Given the description of an element on the screen output the (x, y) to click on. 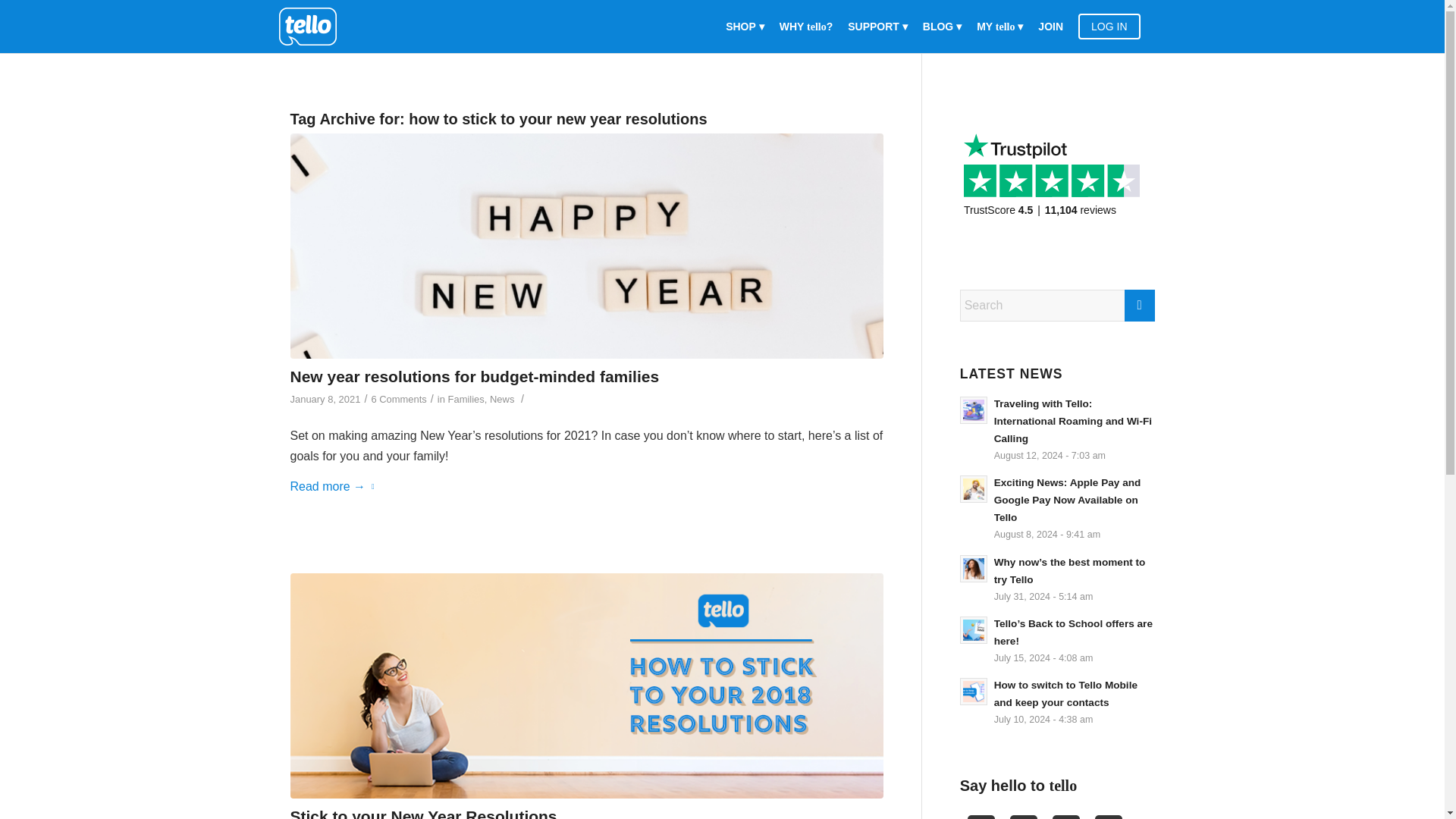
BLOG (942, 26)
6 Comments (398, 398)
Stick to your New Year Resolutions (422, 813)
2022-logo-reversed (313, 26)
SHOP (744, 26)
Click to start search (1139, 305)
SUPPORT (877, 26)
